Given the description of an element on the screen output the (x, y) to click on. 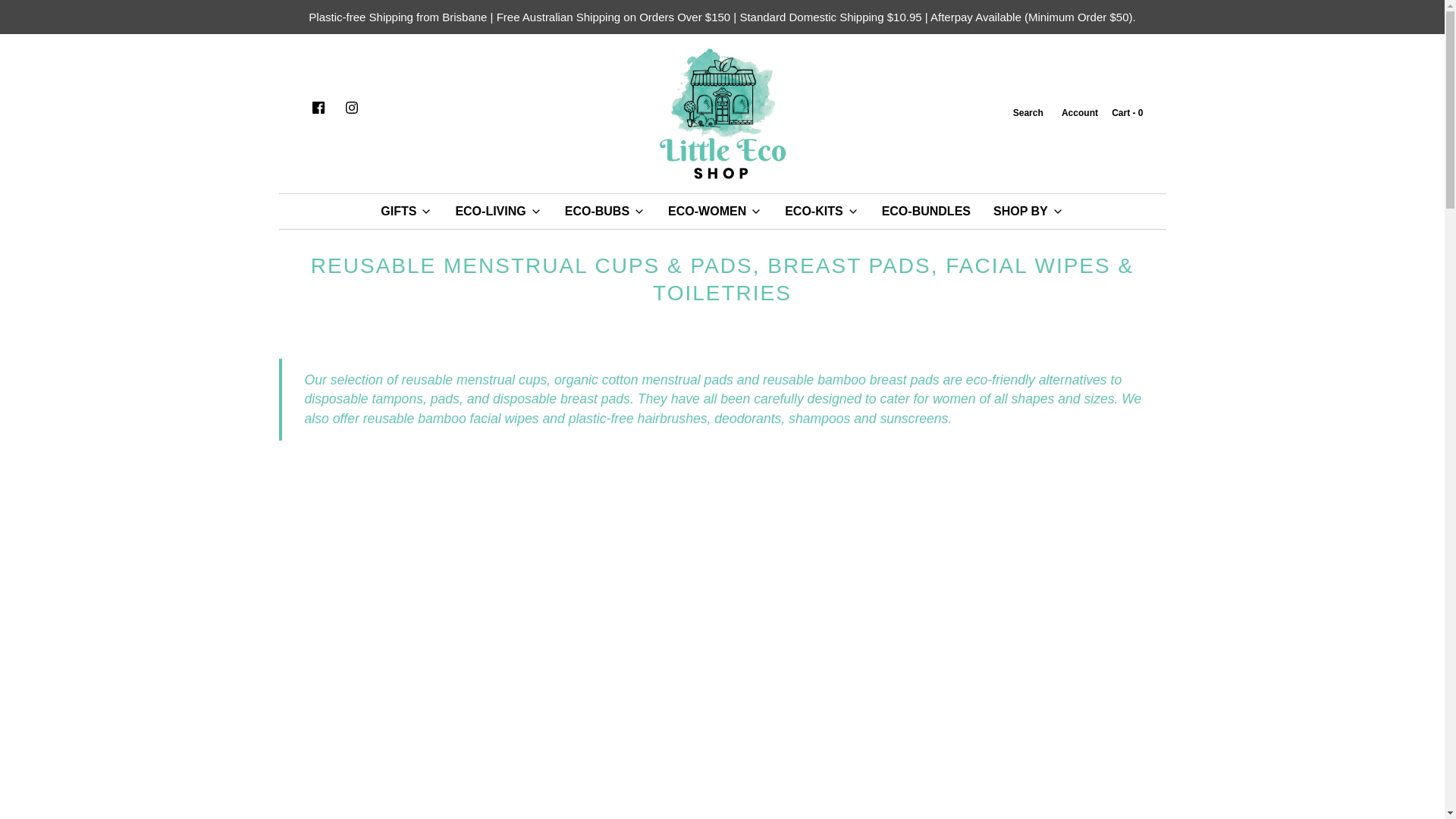
Log in (1078, 113)
GIFTS (406, 211)
ECO-LIVING (498, 211)
Search (1027, 113)
Account (1078, 113)
Search (1027, 113)
Cart - 0 (1125, 113)
Cart (1125, 113)
